Given the description of an element on the screen output the (x, y) to click on. 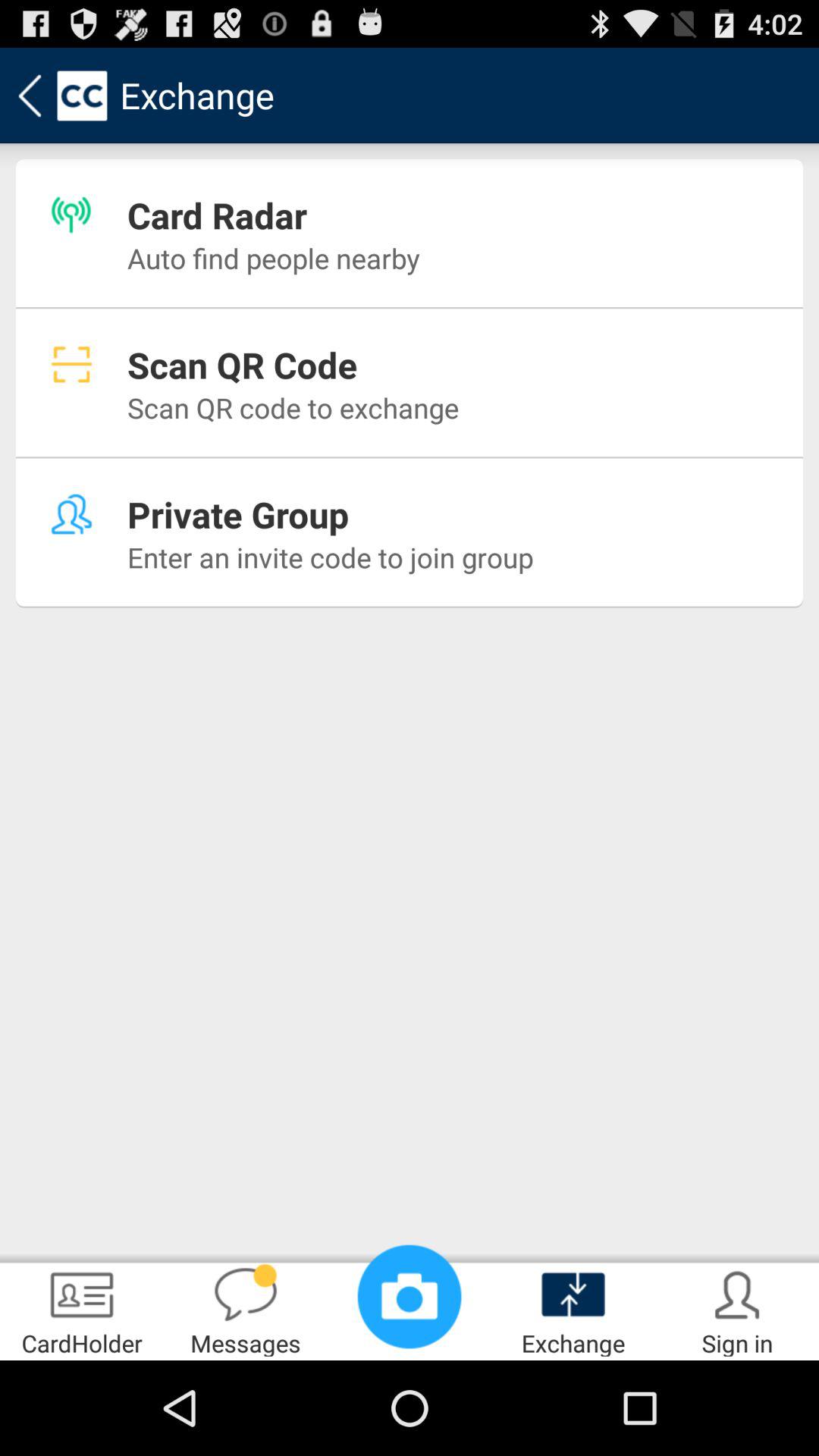
scroll to the messages icon (245, 1309)
